Given the description of an element on the screen output the (x, y) to click on. 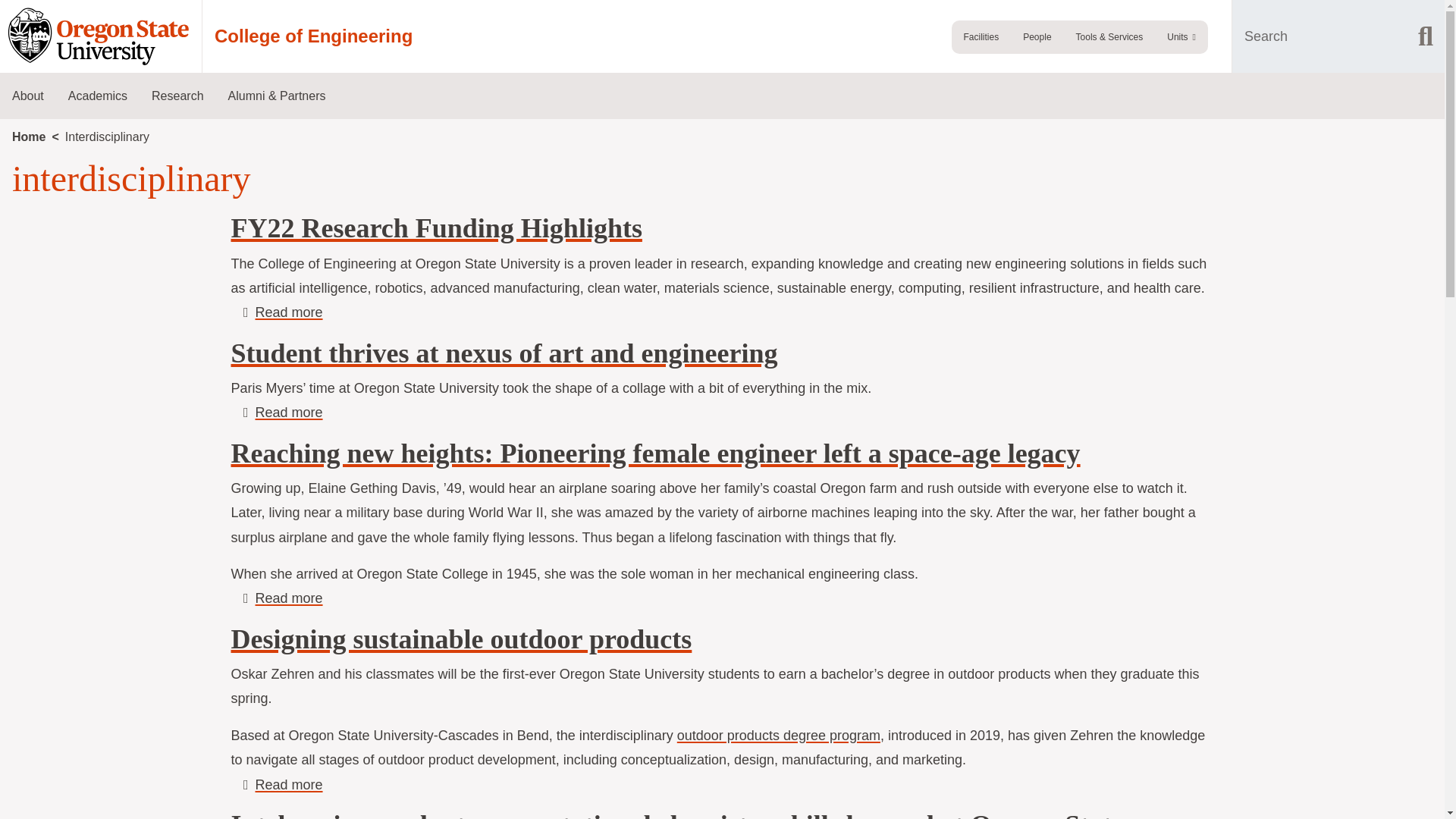
Units (1181, 37)
Designing sustainable outdoor products (287, 784)
College of Engineering (313, 36)
outdoor products degree program (778, 735)
Student thrives at nexus of art and engineering (287, 412)
People (1036, 37)
Facilities (980, 37)
FY22 Research Funding Highlights (436, 227)
Student thrives at nexus of art and engineering (503, 353)
Research (177, 95)
FY22 Research Funding Highlights (287, 784)
Home (287, 312)
